Given the description of an element on the screen output the (x, y) to click on. 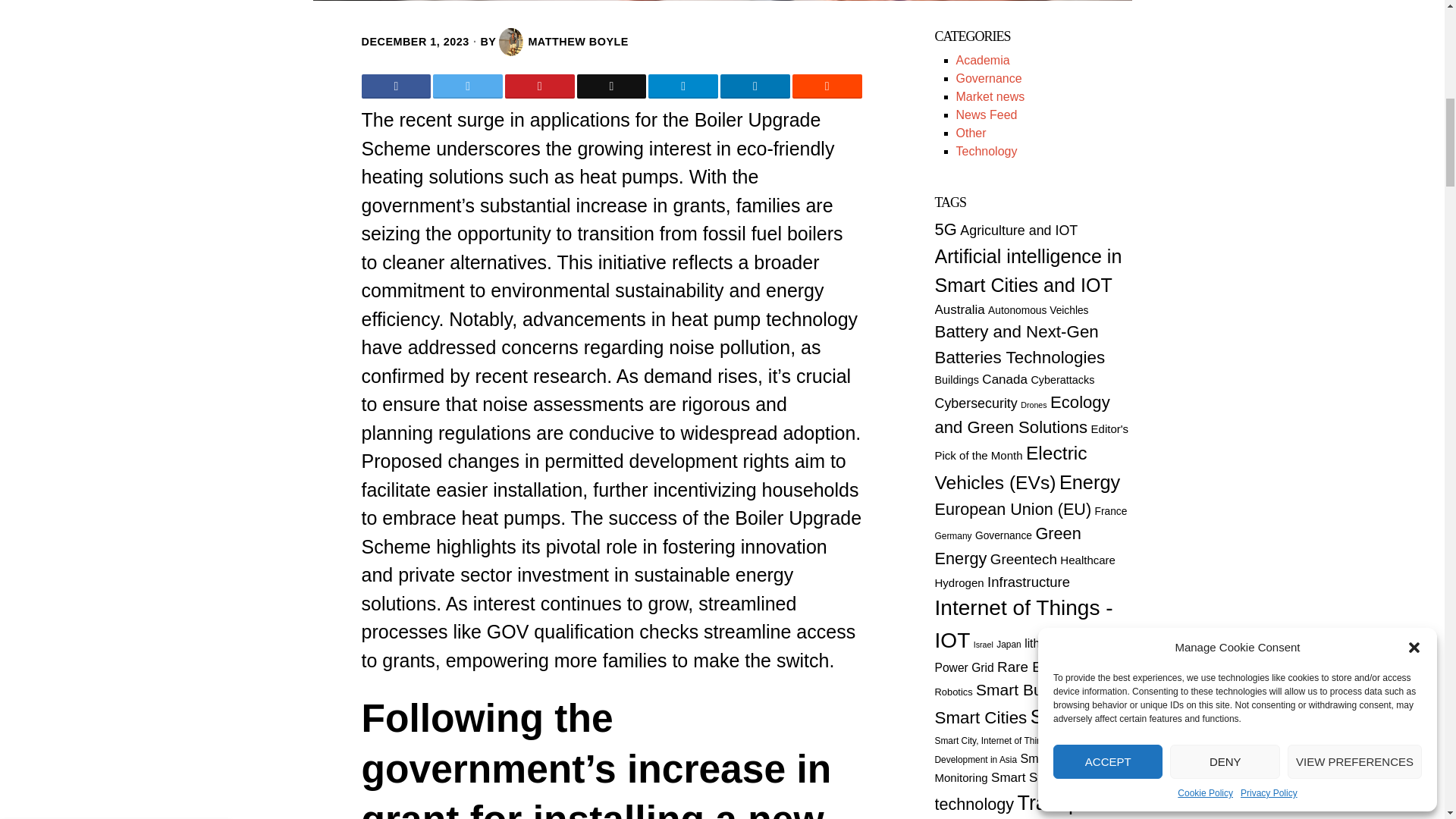
01 Dec, 2023 07:13:10 (414, 41)
MATTHEW BOYLE (563, 41)
